Given the description of an element on the screen output the (x, y) to click on. 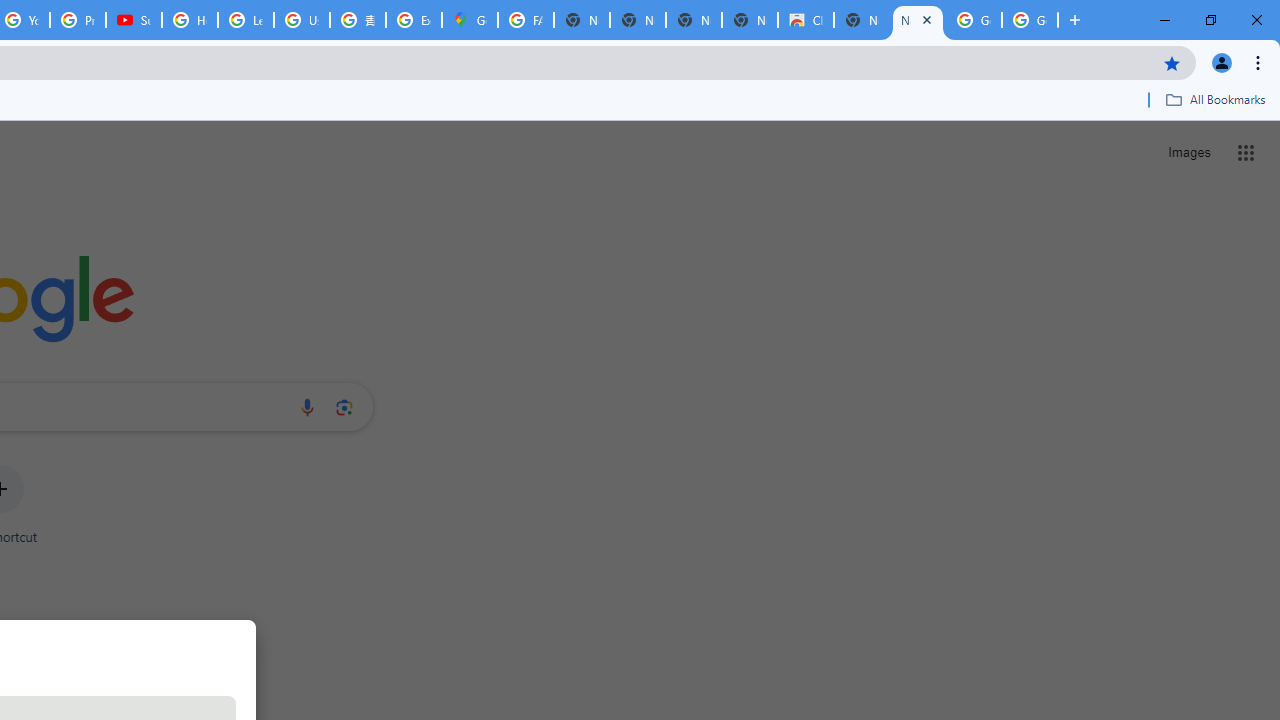
Google Images (973, 20)
Subscriptions - YouTube (134, 20)
